Given the description of an element on the screen output the (x, y) to click on. 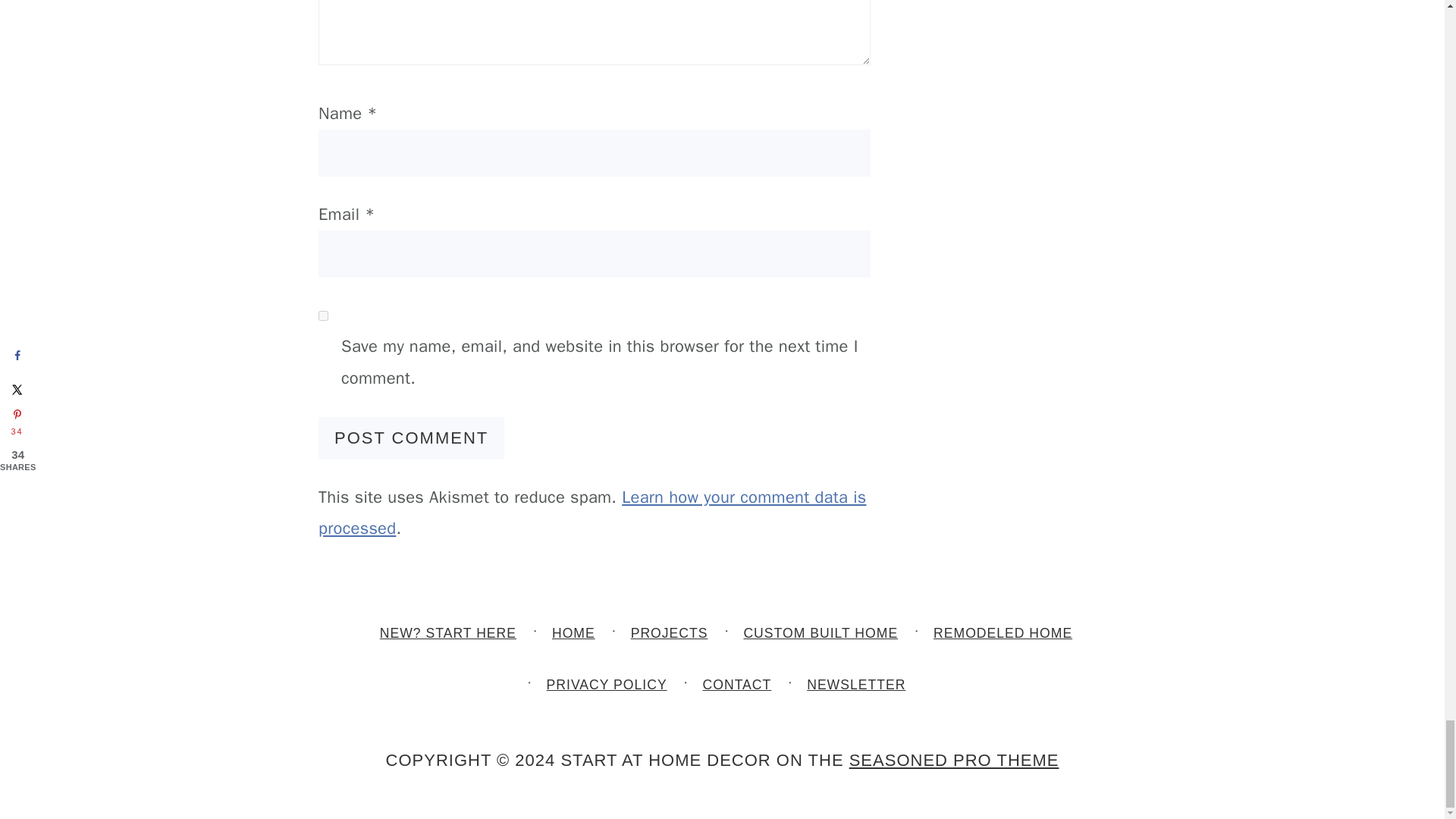
yes (323, 316)
Post Comment (410, 437)
